Given the description of an element on the screen output the (x, y) to click on. 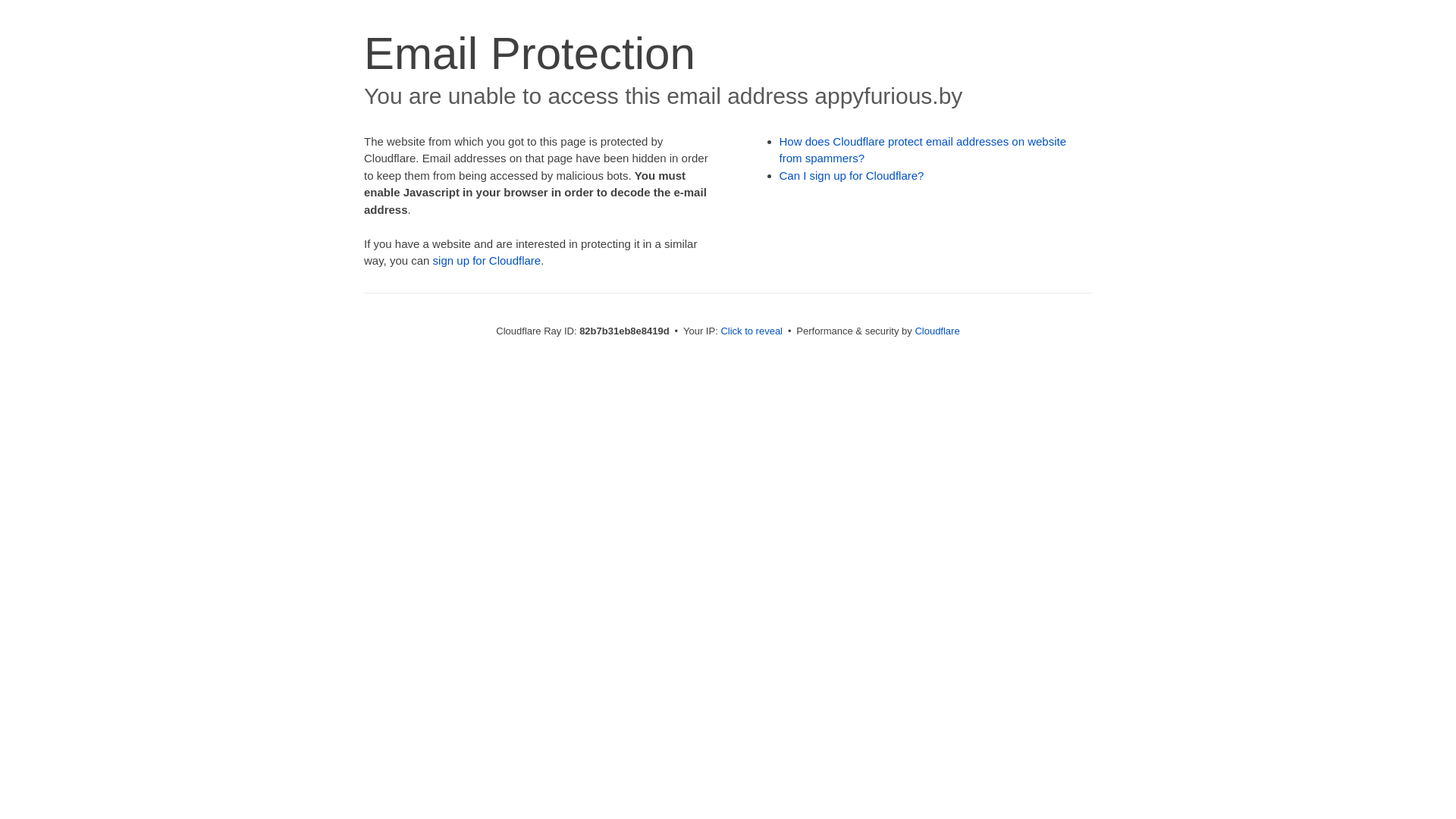
Can I sign up for Cloudflare? Element type: text (851, 175)
Cloudflare Element type: text (936, 330)
Click to reveal Element type: text (751, 330)
sign up for Cloudflare Element type: text (487, 260)
